Given the description of an element on the screen output the (x, y) to click on. 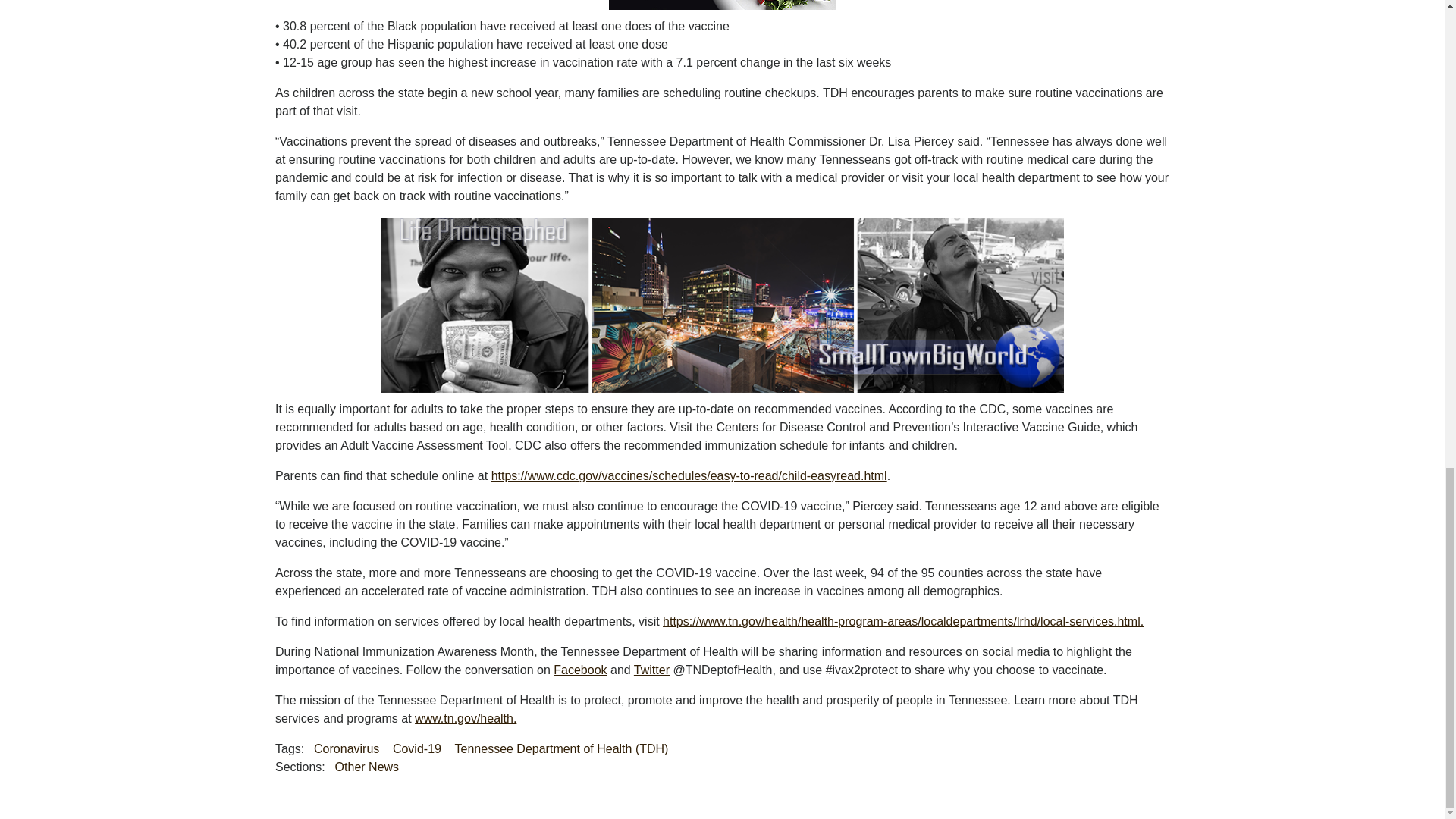
Coronavirus (346, 749)
Other News (367, 767)
Facebook (580, 669)
Twitter (651, 669)
Covid-19 (416, 749)
